Given the description of an element on the screen output the (x, y) to click on. 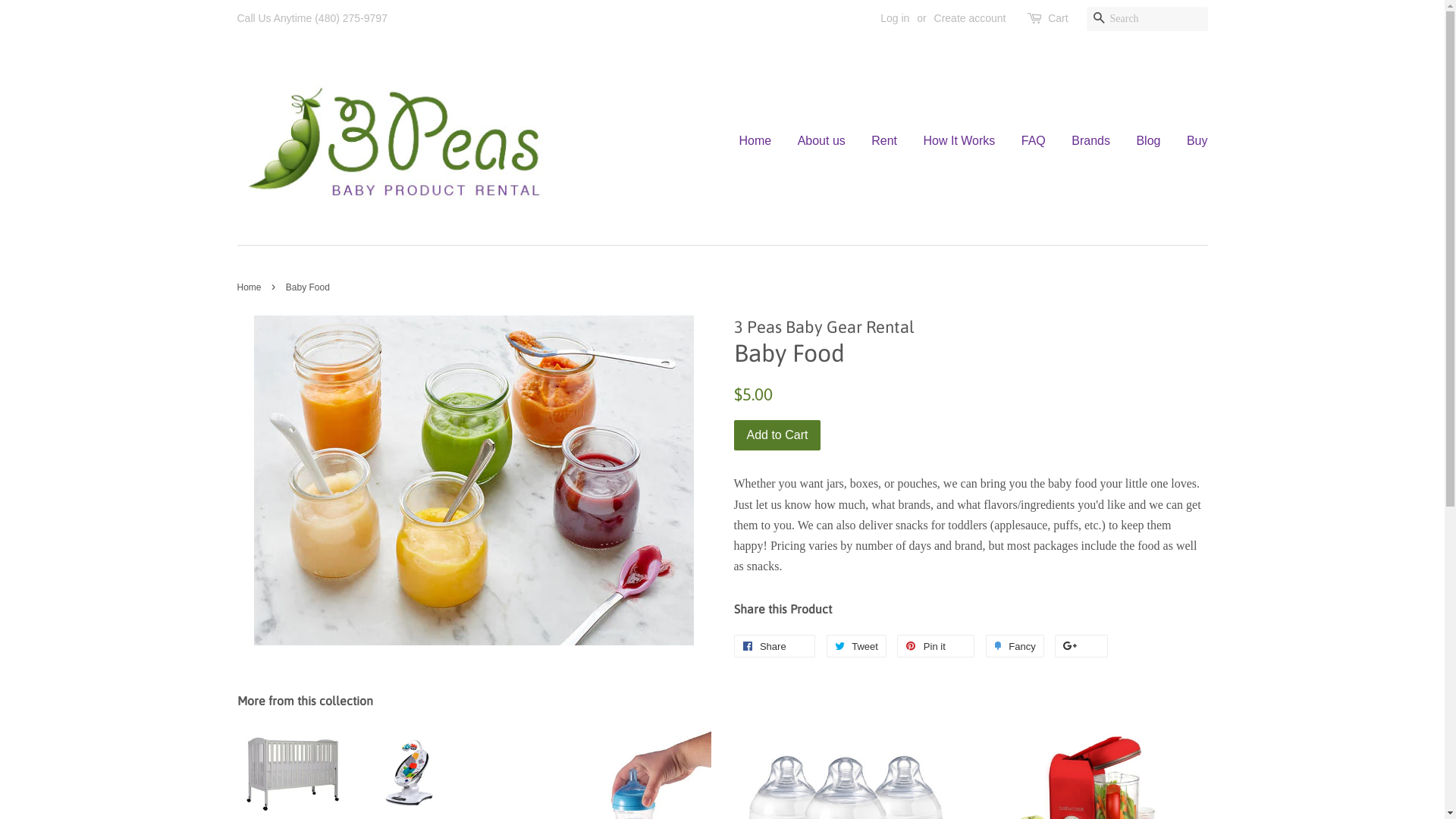
FAQ Element type: text (1033, 140)
About us Element type: text (821, 140)
Blog Element type: text (1147, 140)
Search Element type: text (1097, 18)
Cart Element type: text (1057, 18)
Brands Element type: text (1090, 140)
Home Element type: text (760, 140)
+1 on Google Plus Element type: text (1080, 645)
Log in Element type: text (894, 18)
Pin it
Pin on Pinterest Element type: text (935, 645)
Buy Element type: text (1191, 140)
Home Element type: text (250, 287)
How It Works Element type: text (958, 140)
Rent Element type: text (883, 140)
Fancy
Add to Fancy Element type: text (1014, 645)
Tweet
Tweet on Twitter Element type: text (856, 645)
Share
Share on Facebook Element type: text (774, 645)
Add to Cart Element type: text (777, 435)
Create account Element type: text (970, 18)
